Given the description of an element on the screen output the (x, y) to click on. 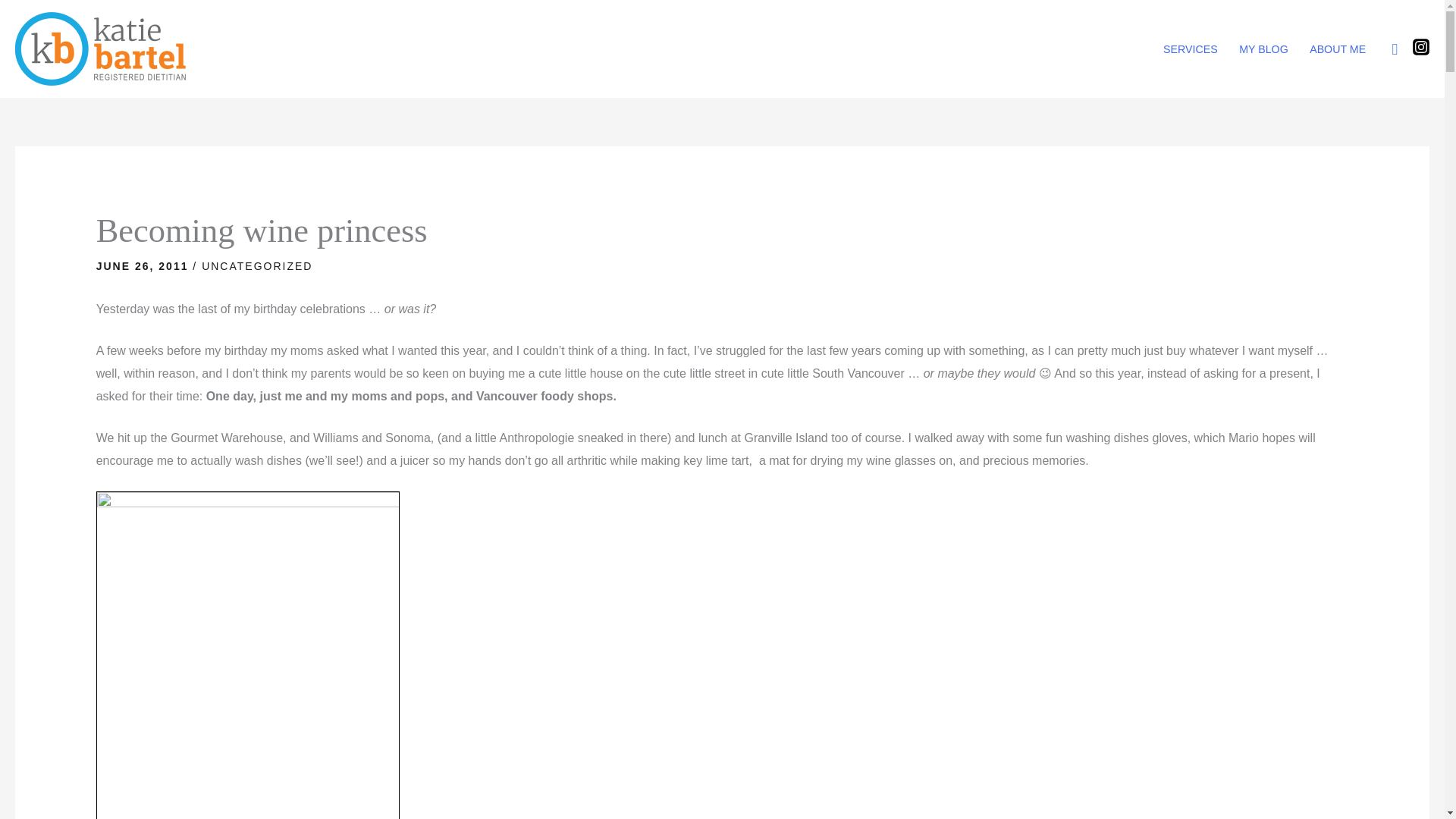
UNCATEGORIZED (257, 265)
Search (18, 15)
SERVICES (1190, 49)
GWapron-blog (247, 655)
MY BLOG (1263, 49)
ABOUT ME (1336, 49)
